Given the description of an element on the screen output the (x, y) to click on. 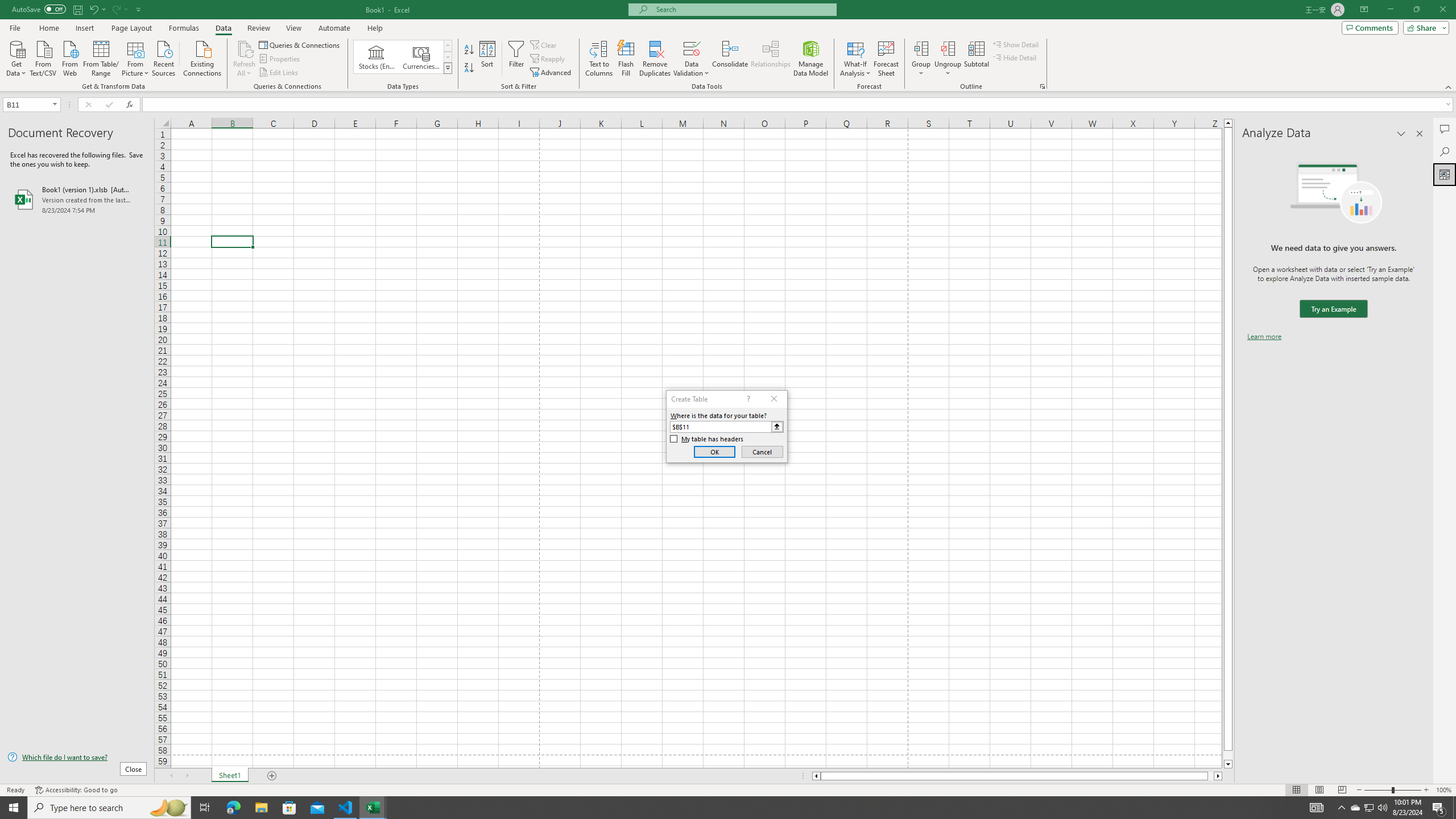
Clear (544, 44)
From Text/CSV (43, 57)
AutoSave (38, 9)
Formula Bar (799, 104)
Relationships (770, 58)
Currencies (English) (420, 56)
Learn more (1264, 336)
Analyze Data (1444, 173)
